Given the description of an element on the screen output the (x, y) to click on. 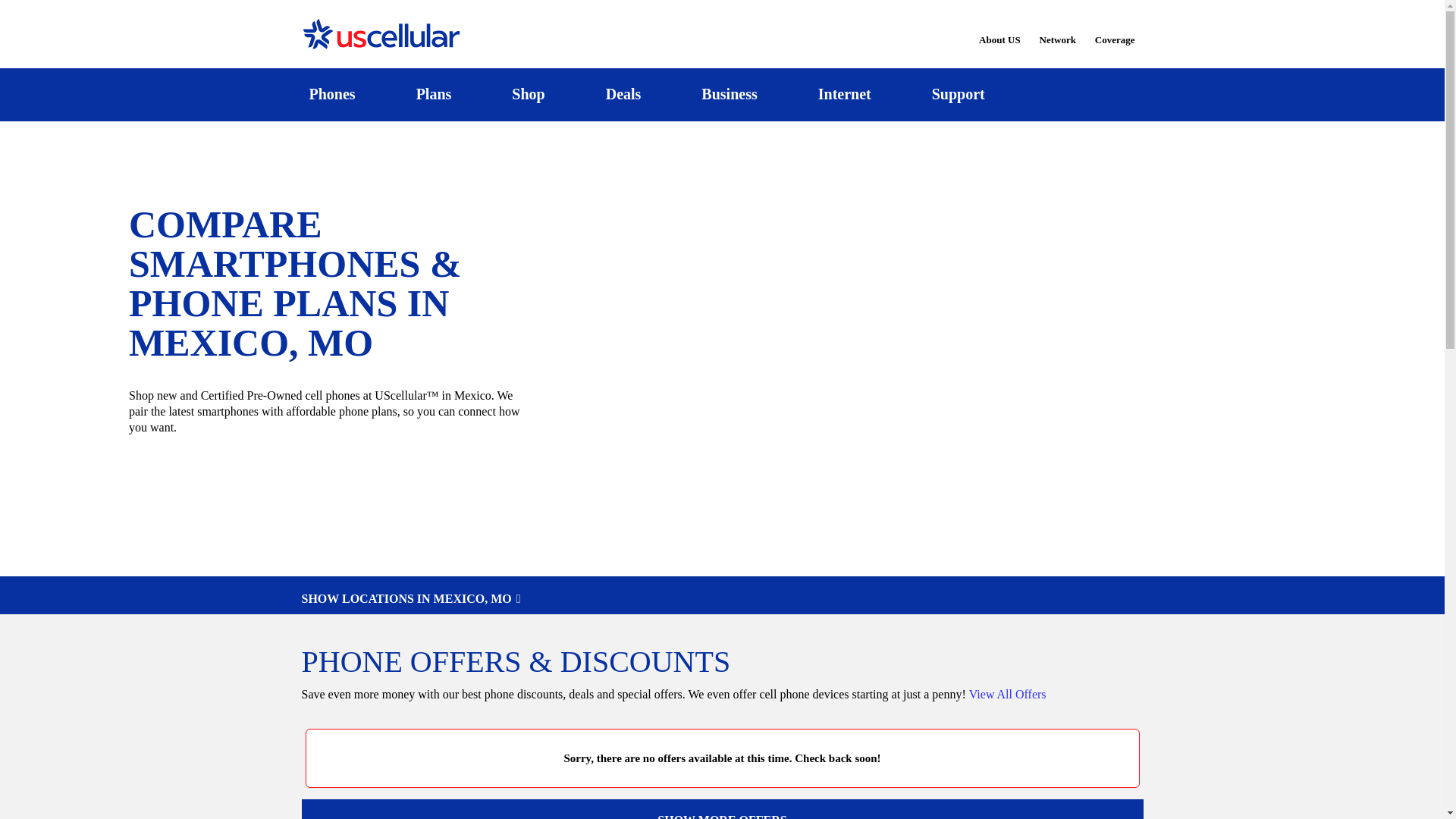
Deals (623, 94)
Shop (528, 94)
Plans (433, 94)
Coverage (1115, 29)
Network (1057, 30)
Internet (844, 94)
Support (957, 94)
SHOW LOCATIONS IN MEXICO, MO (722, 598)
Phones (332, 94)
Business (729, 94)
About US (999, 30)
